Given the description of an element on the screen output the (x, y) to click on. 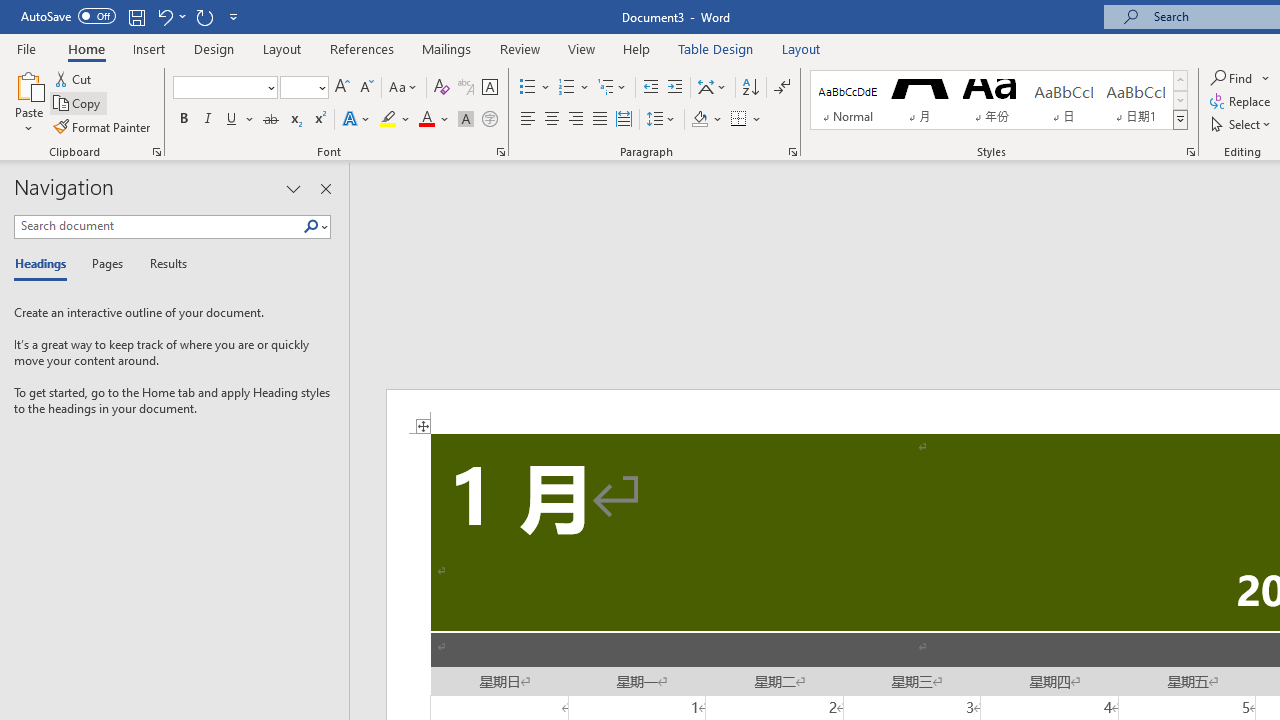
Repeat Copy (204, 15)
